Given the description of an element on the screen output the (x, y) to click on. 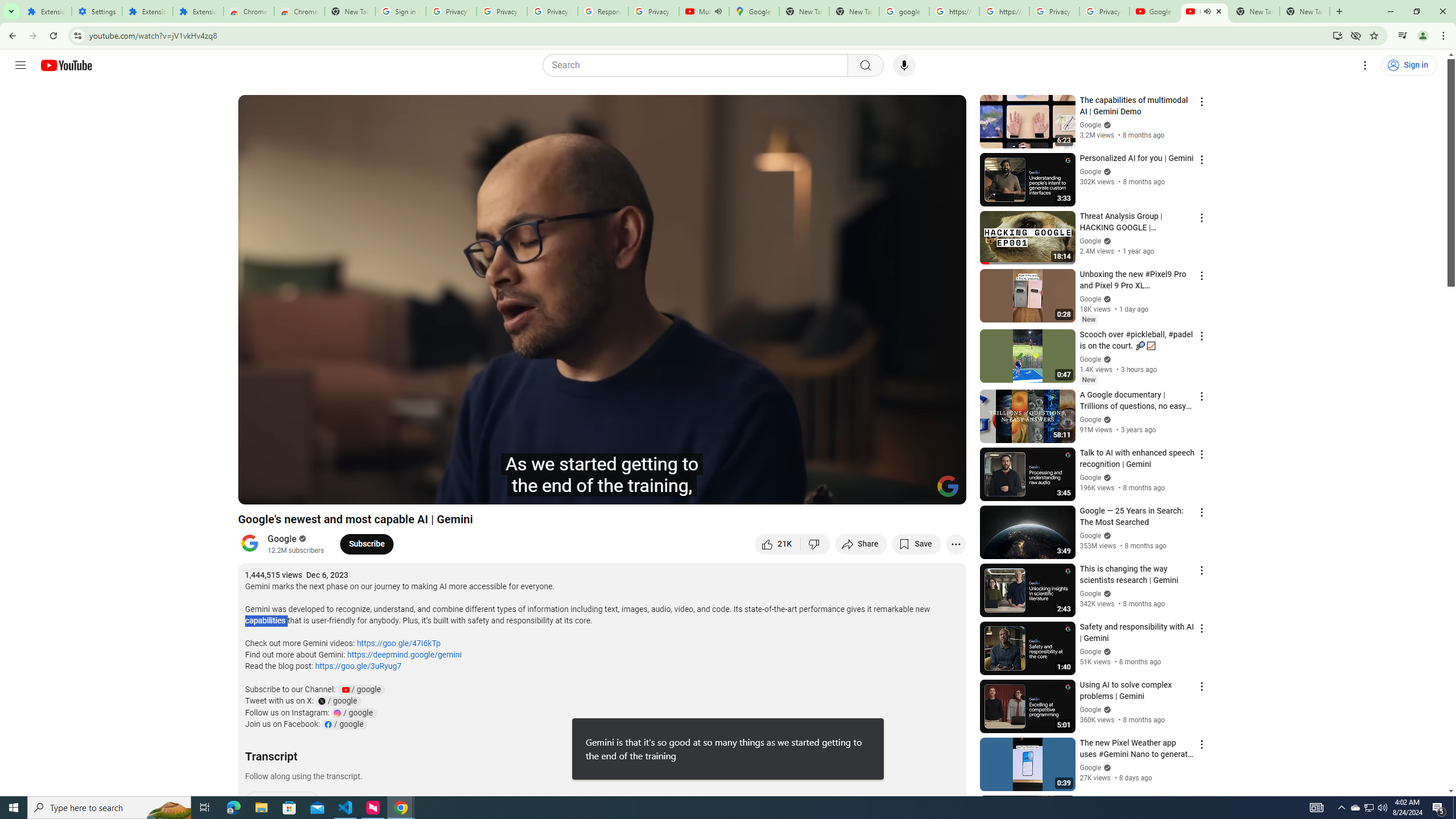
Play (k) (257, 490)
https://goo.gle/47I6kTp (398, 643)
Subtitles/closed captions unavailable (836, 490)
Action menu (1200, 802)
Autoplay is on (808, 490)
Settings (1365, 65)
Instagram Channel Link: google (353, 712)
Settings (863, 490)
https://goo.gle/3uRyug7 (357, 665)
